Given the description of an element on the screen output the (x, y) to click on. 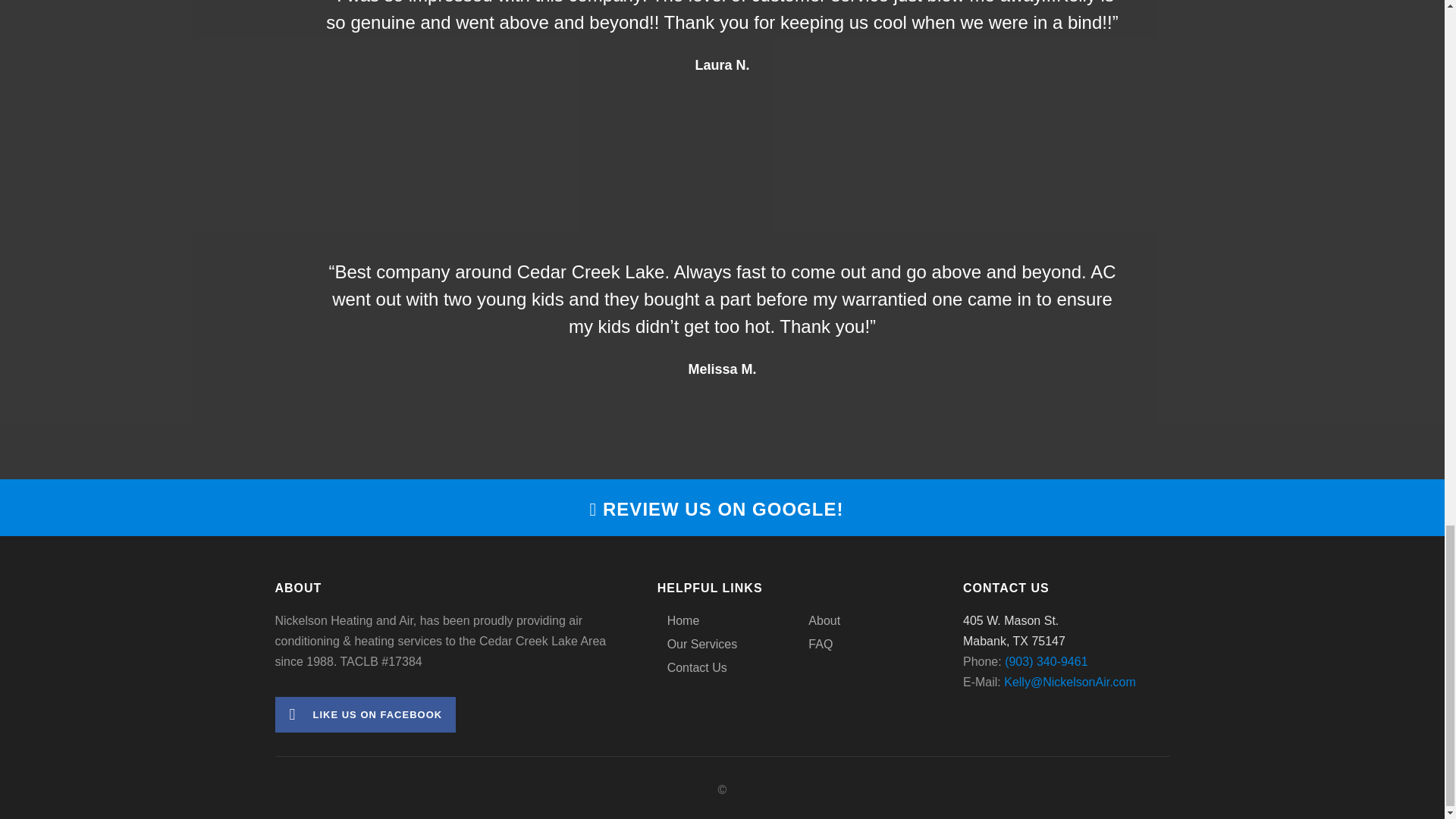
Our Services (697, 646)
Home (679, 622)
REVIEW US ON GOOGLE! (716, 508)
Contact Us (692, 670)
LIKE US ON FACEBOOK (365, 714)
FAQ (814, 646)
About (818, 622)
